Given the description of an element on the screen output the (x, y) to click on. 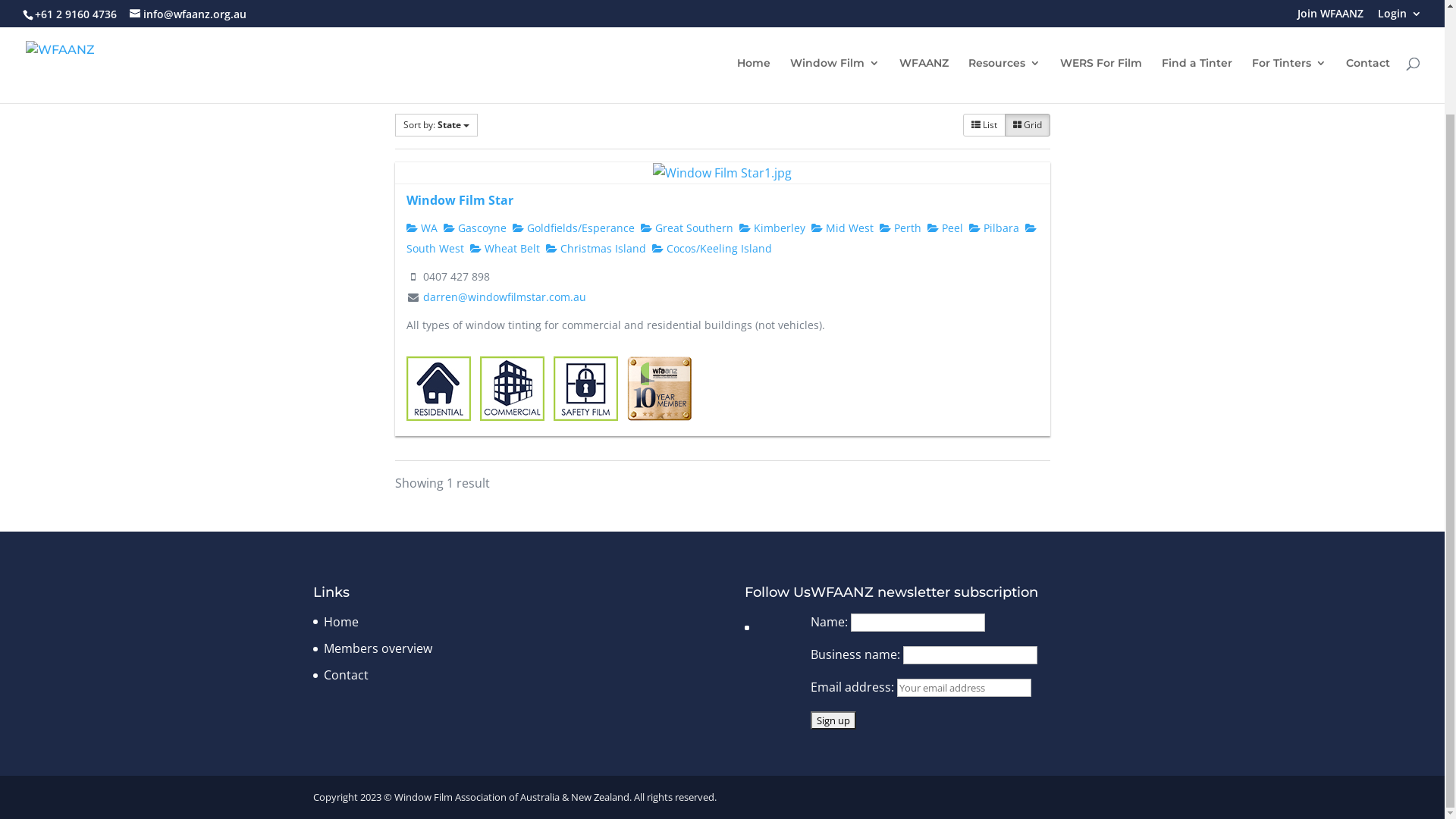
Kimberley Element type: text (771, 349)
Gascoyne Element type: text (473, 349)
South West Element type: text (721, 359)
Sort by: State Element type: text (435, 246)
Goldfields/Esperance Element type: text (573, 349)
darren@windowfilmstar.com.au Element type: text (504, 418)
Great Southern Element type: text (686, 349)
Home Element type: text (753, 202)
Resources Element type: text (1004, 202)
Find a Tinter Element type: text (1196, 202)
info@wfaanz.org.au Element type: text (187, 135)
WA Element type: text (421, 349)
Grid Element type: text (1026, 246)
Perth Element type: text (900, 349)
Contact Element type: text (1368, 202)
Mid West Element type: text (842, 349)
For Tinters Element type: text (1289, 202)
Christmas Island Element type: text (596, 370)
WERS For Film Element type: text (1101, 202)
Listings Element type: text (427, 206)
Home Element type: text (340, 743)
Join WFAANZ Element type: text (1330, 139)
Wheat Belt Element type: text (504, 370)
WFAANZ Element type: text (923, 202)
Members overview Element type: text (377, 770)
Window Film Element type: text (834, 202)
List Element type: text (984, 246)
Login Element type: text (1399, 139)
Pilbara Element type: text (994, 349)
Peel Element type: text (944, 349)
Cocos/Keeling Island Element type: text (711, 370)
Contact Element type: text (345, 796)
Window Film Star Element type: text (459, 321)
